Given the description of an element on the screen output the (x, y) to click on. 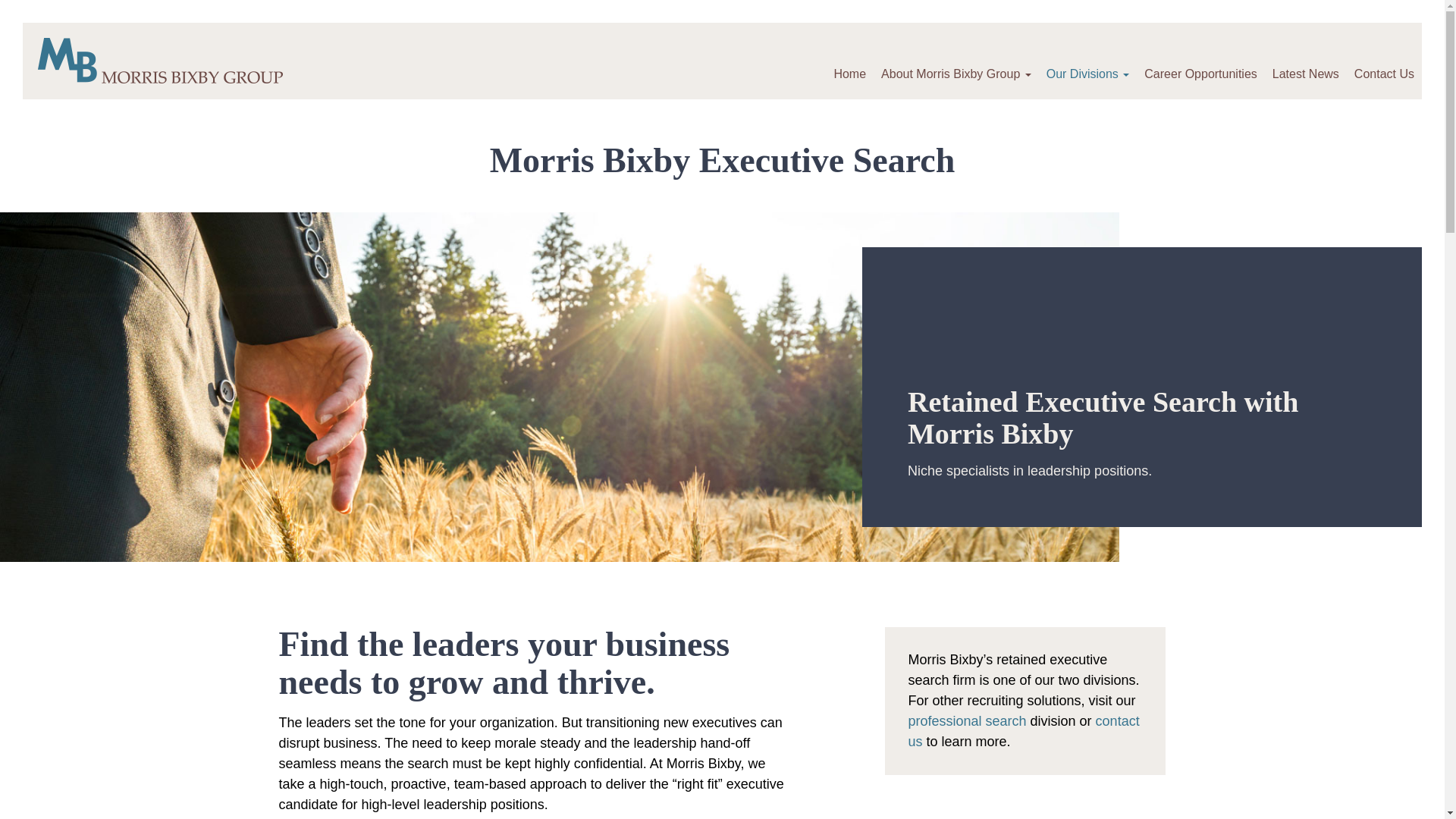
Latest News (1305, 60)
Our Divisions (1088, 60)
Contact Us (1384, 60)
Career Opportunities (1201, 60)
Our Divisions (1088, 60)
professional search (966, 720)
Latest News (1305, 60)
Contact Us (1384, 60)
contact us (1022, 731)
